Given the description of an element on the screen output the (x, y) to click on. 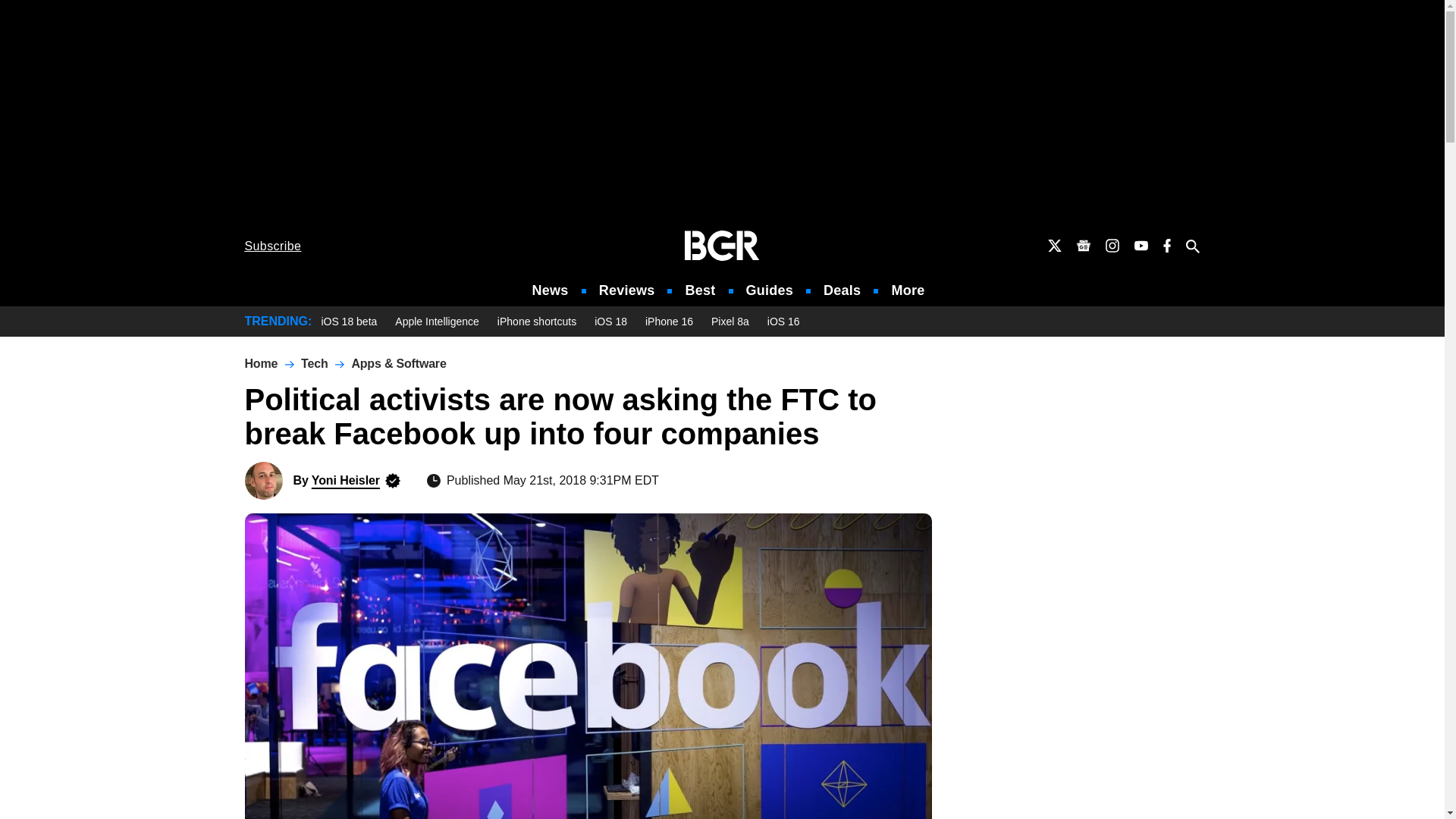
Reviews (626, 290)
Deals (842, 290)
Subscribe (272, 245)
Guides (769, 290)
Best (699, 290)
News (550, 290)
Posts by Yoni Heisler (345, 480)
More (907, 290)
